Given the description of an element on the screen output the (x, y) to click on. 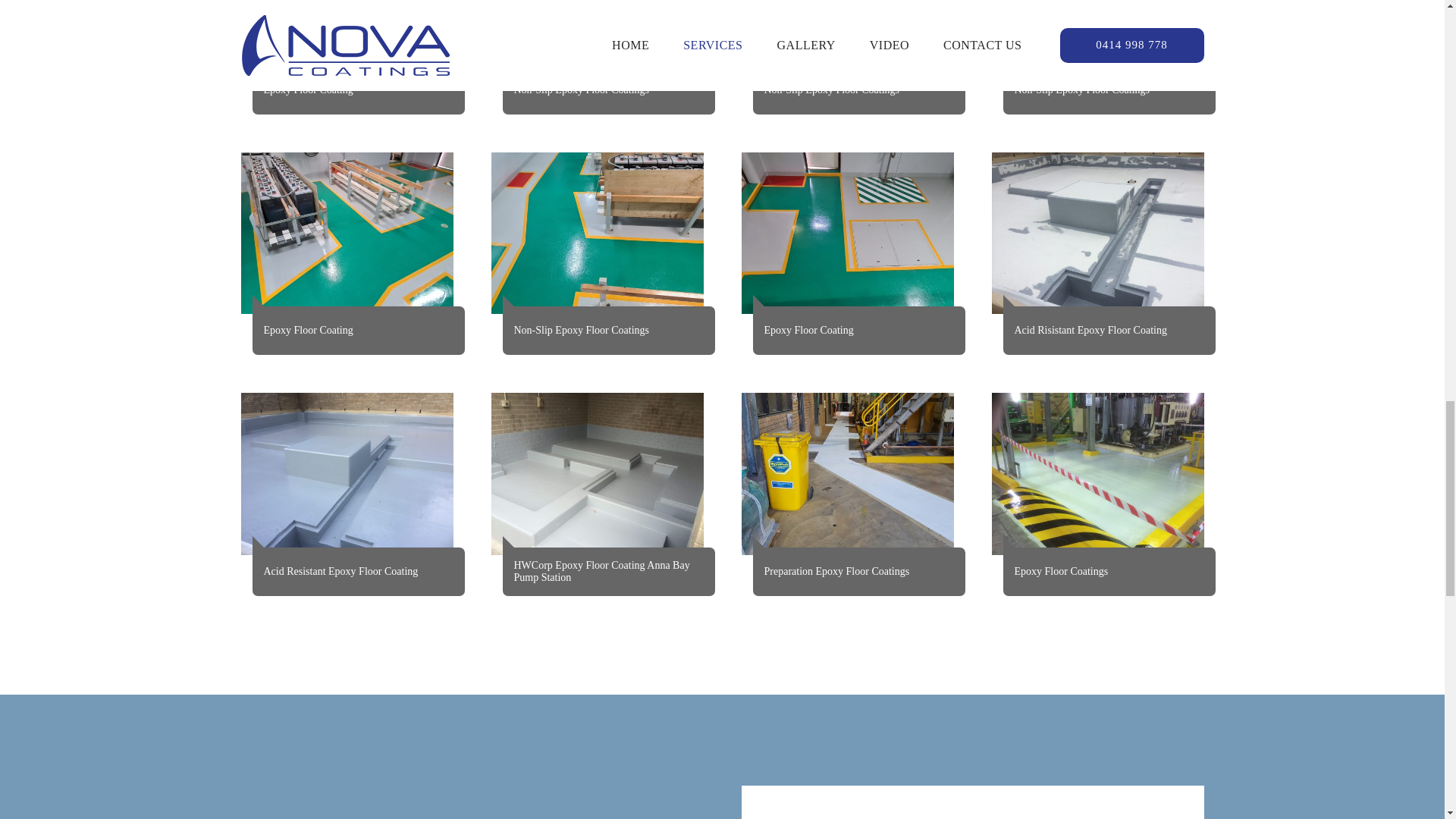
Non-Slip Epoxy Floor Coatings (597, 36)
Epoxy Floor Coating (847, 233)
Non-Slip Epoxy Floor Coatings (847, 36)
Non-Slip Epoxy Floor Coatings (1097, 36)
Non-Slip Epoxy Floor Coatings (597, 233)
Acid Risistant Epoxy Floor Coating (1097, 233)
Acid Resistant Epoxy Floor Coating (346, 474)
HWCorp Epoxy Floor Coating Anna Bay Pump Station (597, 474)
Epoxy Floor Coating (346, 36)
Epoxy Floor Coating (346, 233)
